Given the description of an element on the screen output the (x, y) to click on. 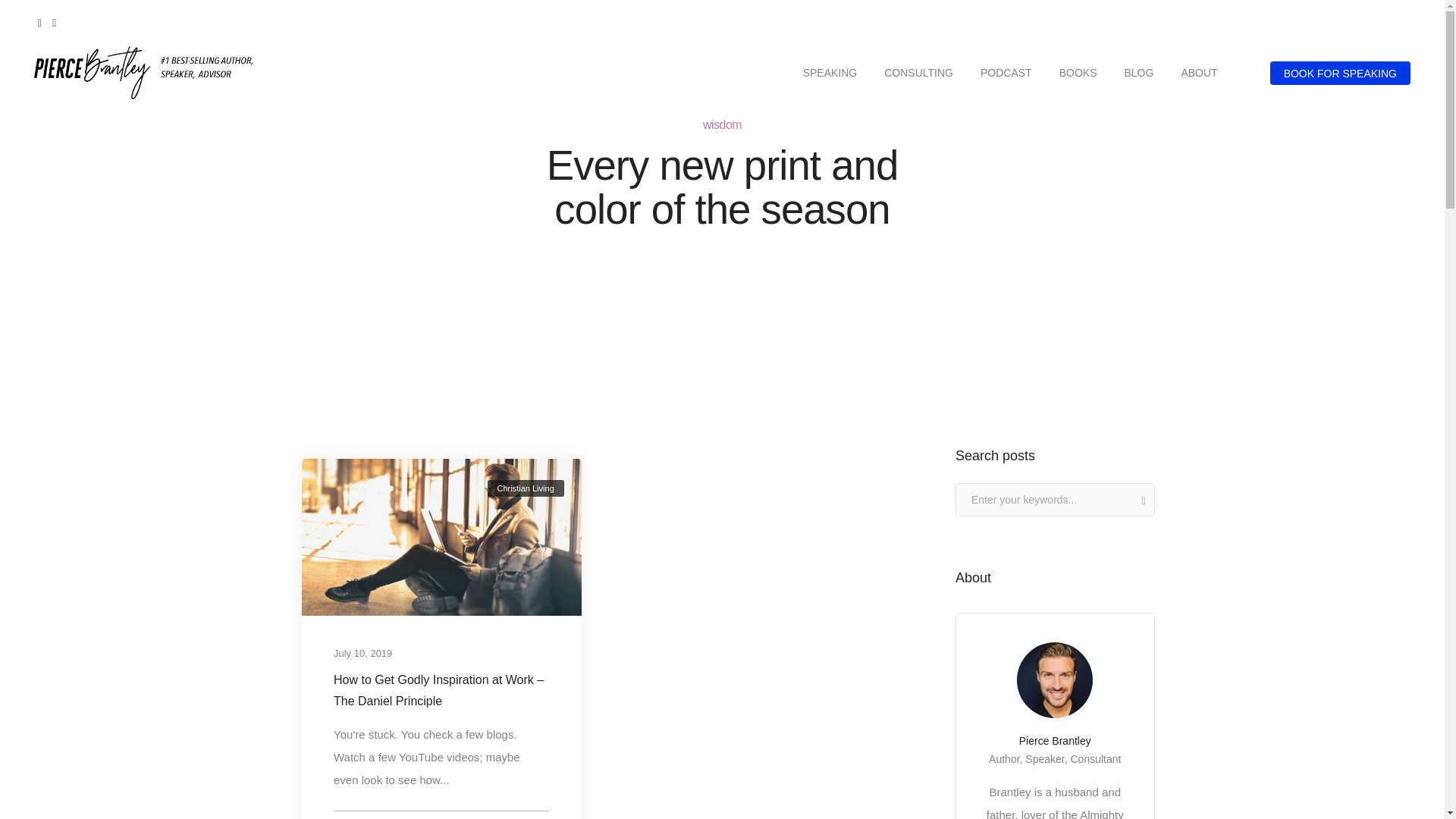
BOOK FOR SPEAKING (1339, 72)
BUY BOOKS (1372, 22)
Christian Living (524, 487)
SPEAKING (830, 72)
CONSULTING (918, 72)
